Given the description of an element on the screen output the (x, y) to click on. 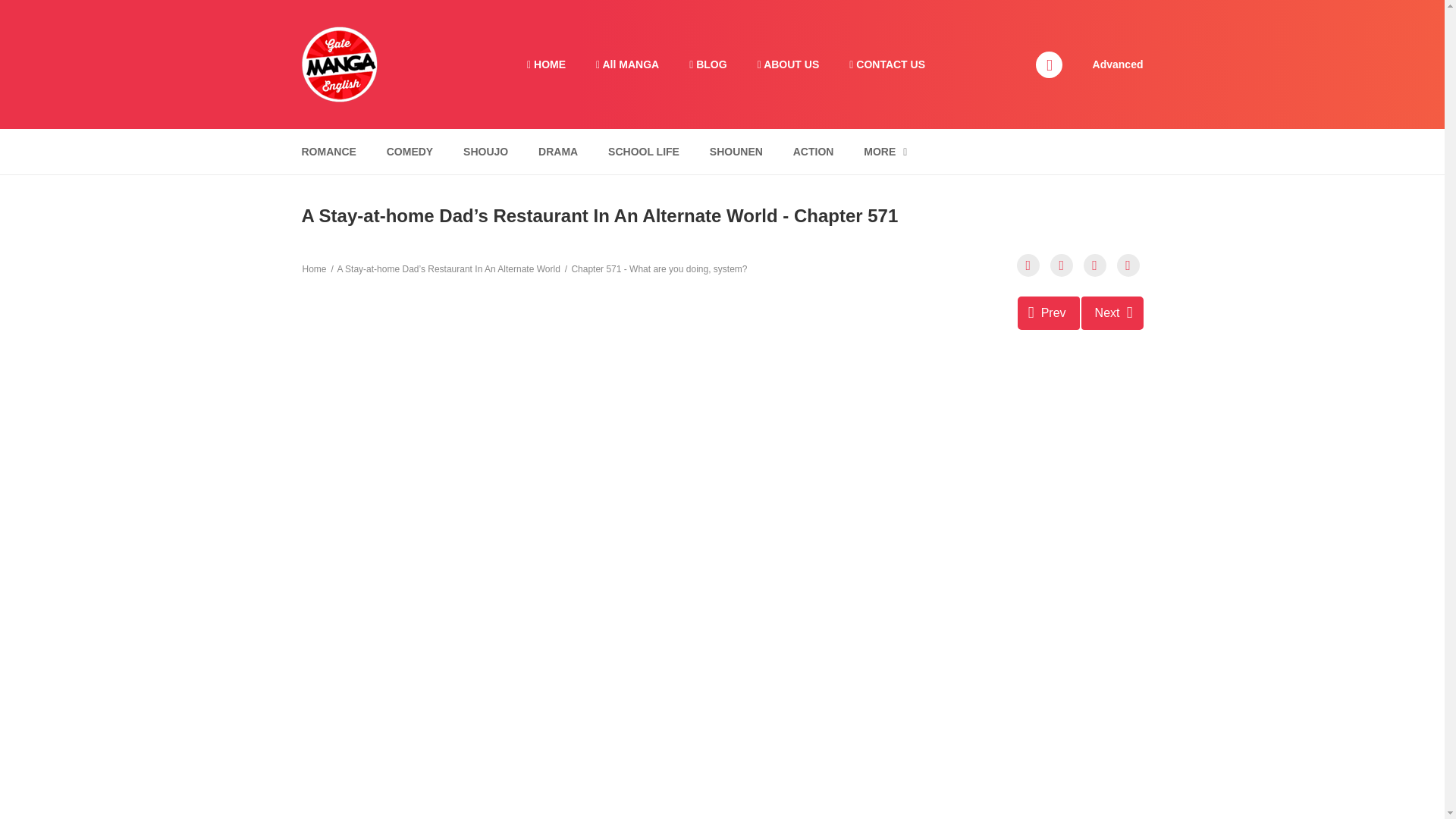
Gate Manga (339, 63)
COMEDY (409, 151)
Advanced (1117, 63)
ROMANCE (328, 151)
Chapter 570 (1048, 313)
Bookmark (1094, 264)
Search (970, 9)
SCHOOL LIFE (643, 151)
HOME (546, 64)
Chapter 572 (1111, 313)
